Given the description of an element on the screen output the (x, y) to click on. 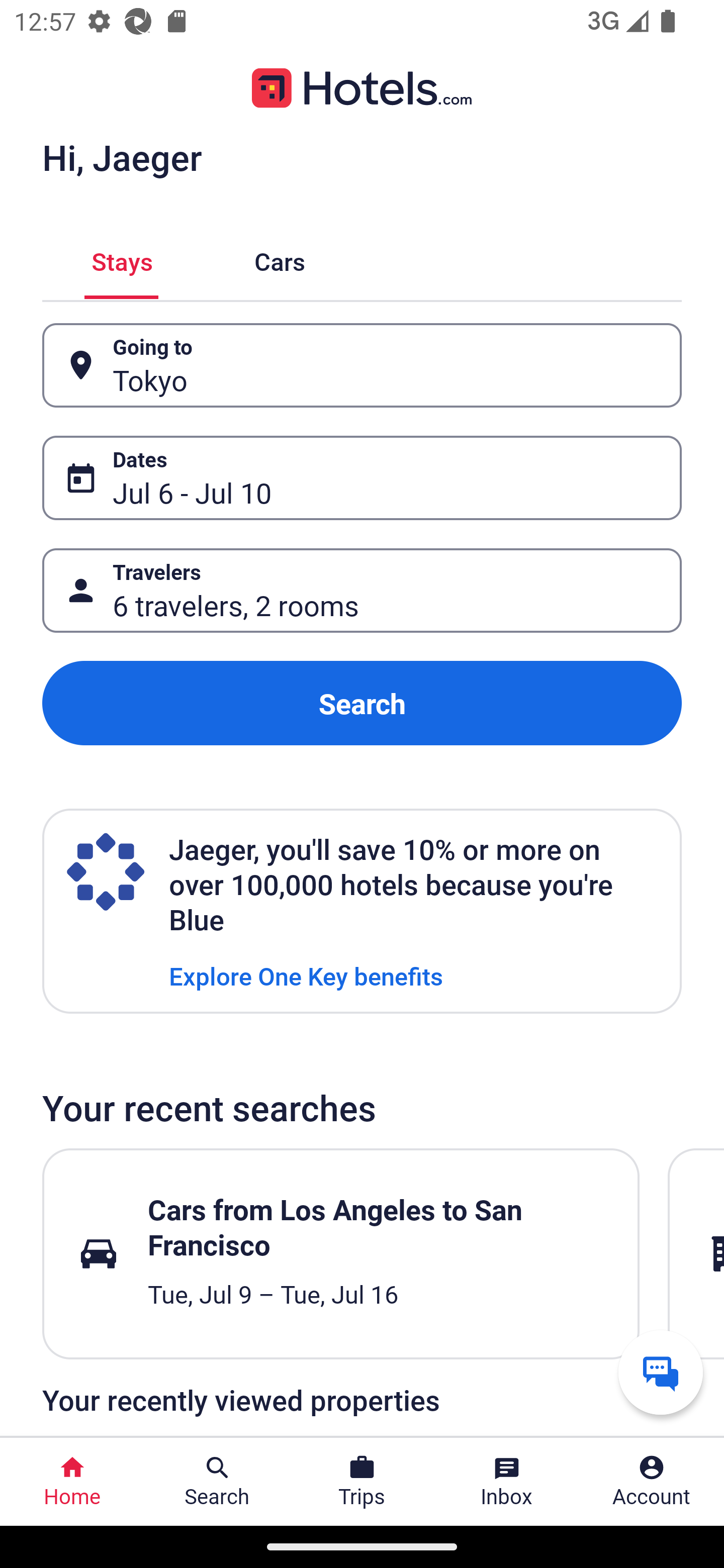
Hi, Jaeger (121, 156)
Cars (279, 259)
Going to Button Tokyo (361, 365)
Dates Button Jul 6 - Jul 10 (361, 477)
Travelers Button 6 travelers, 2 rooms (361, 590)
Search (361, 702)
Get help from a virtual agent (660, 1371)
Search Search Button (216, 1481)
Trips Trips Button (361, 1481)
Inbox Inbox Button (506, 1481)
Account Profile. Button (651, 1481)
